Given the description of an element on the screen output the (x, y) to click on. 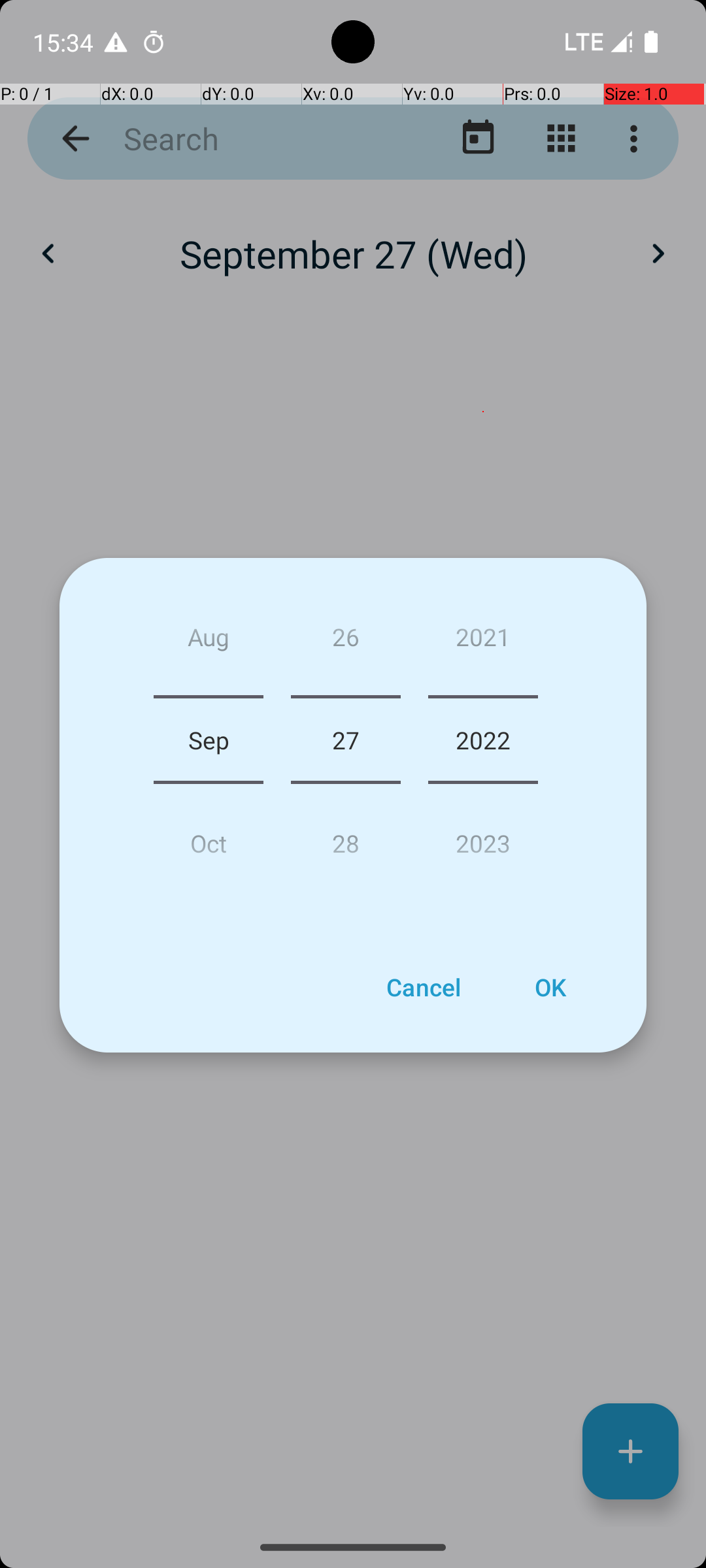
Aug Element type: android.widget.Button (208, 641)
Sep Element type: android.widget.EditText (208, 739)
2021 Element type: android.widget.Button (482, 641)
2022 Element type: android.widget.EditText (482, 739)
